Given the description of an element on the screen output the (x, y) to click on. 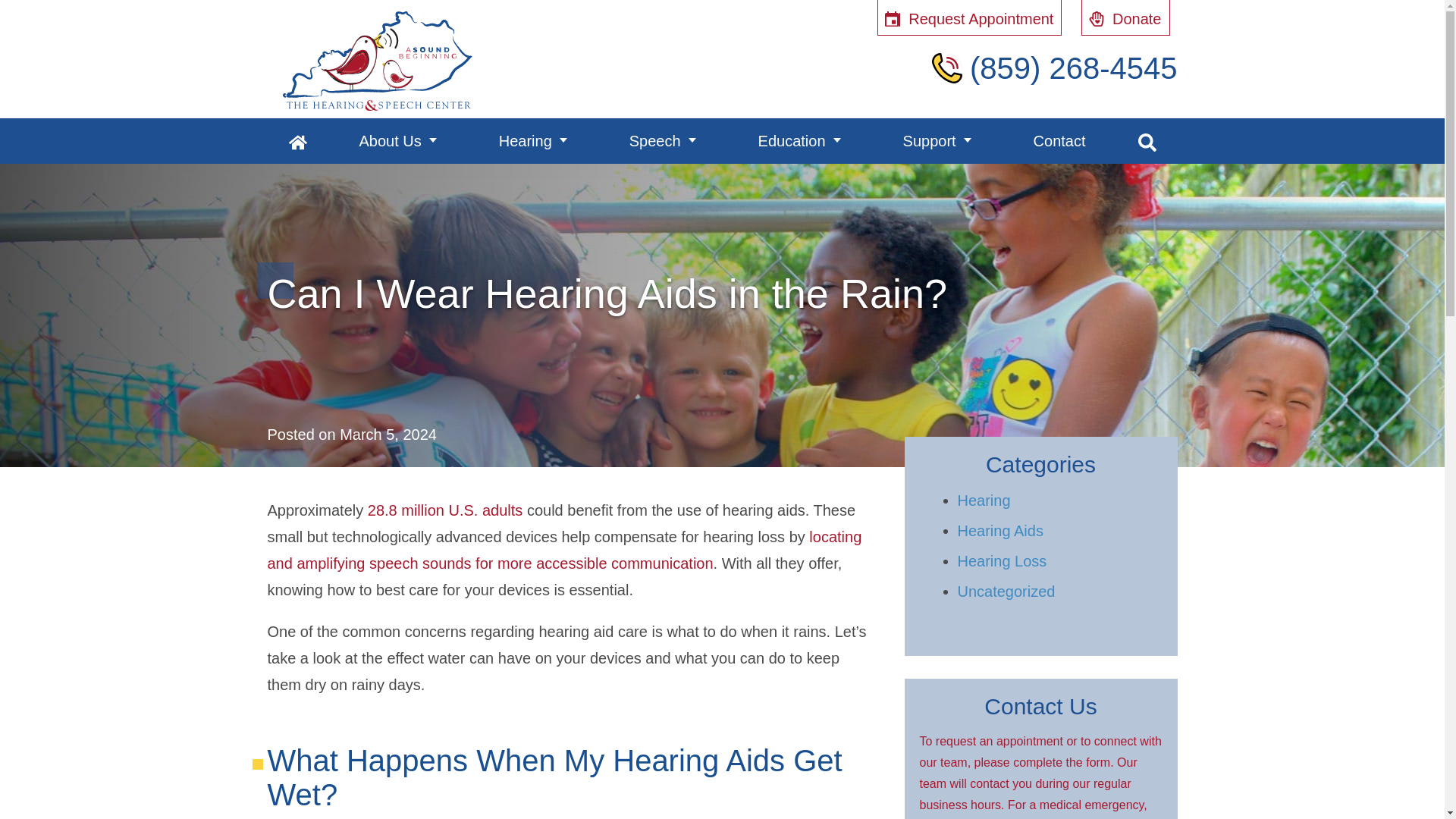
Hearing (532, 140)
Donate (1125, 18)
Request Appointment (969, 18)
About Us (397, 140)
